Given the description of an element on the screen output the (x, y) to click on. 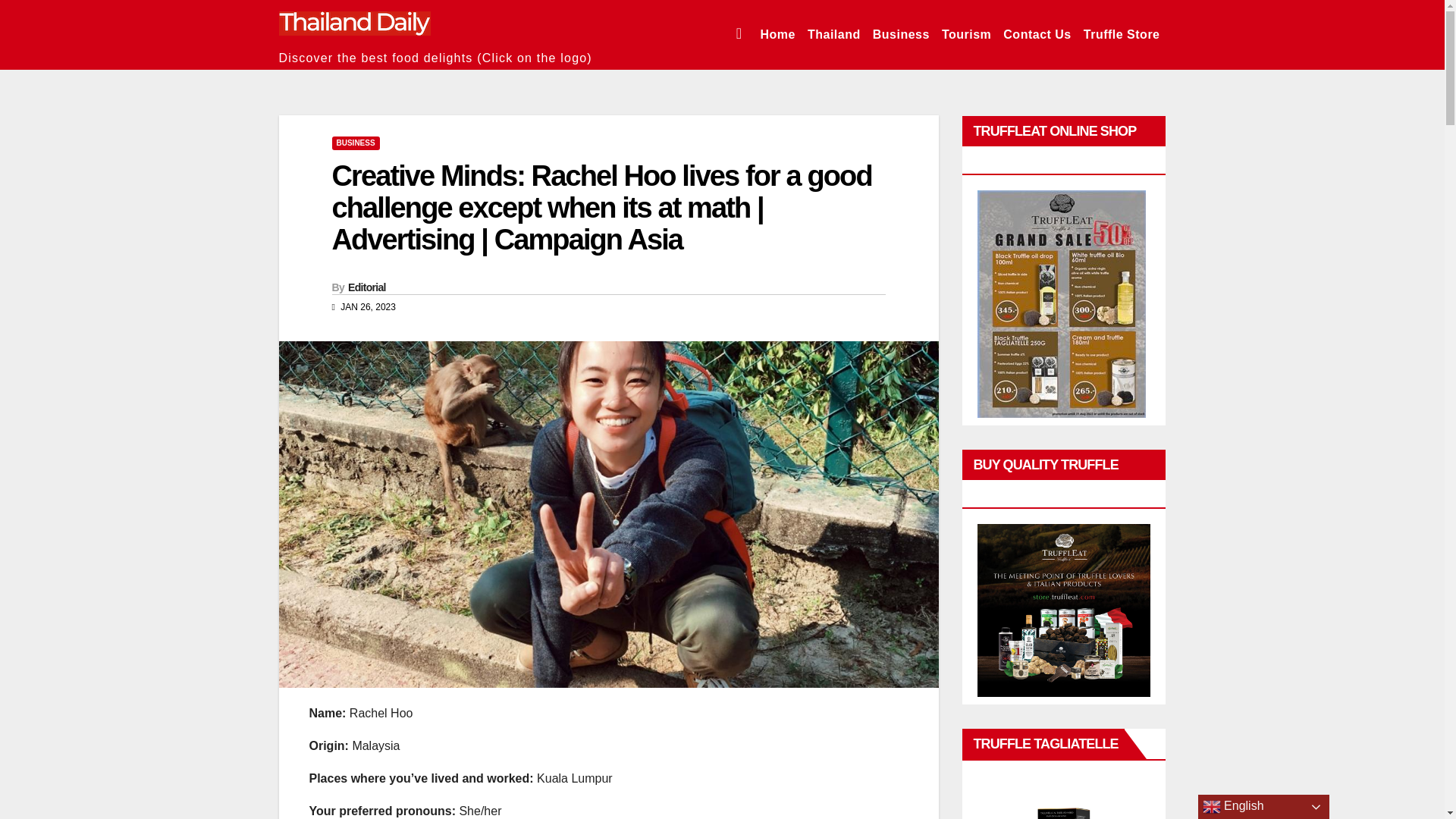
Business (901, 34)
Business (901, 34)
Tourism (966, 34)
BUSINESS (355, 142)
Contact Us (1037, 34)
Tourism (966, 34)
Contact Us (1037, 34)
Thailand (834, 34)
Truffle Store (1121, 34)
Editorial (366, 287)
